Given the description of an element on the screen output the (x, y) to click on. 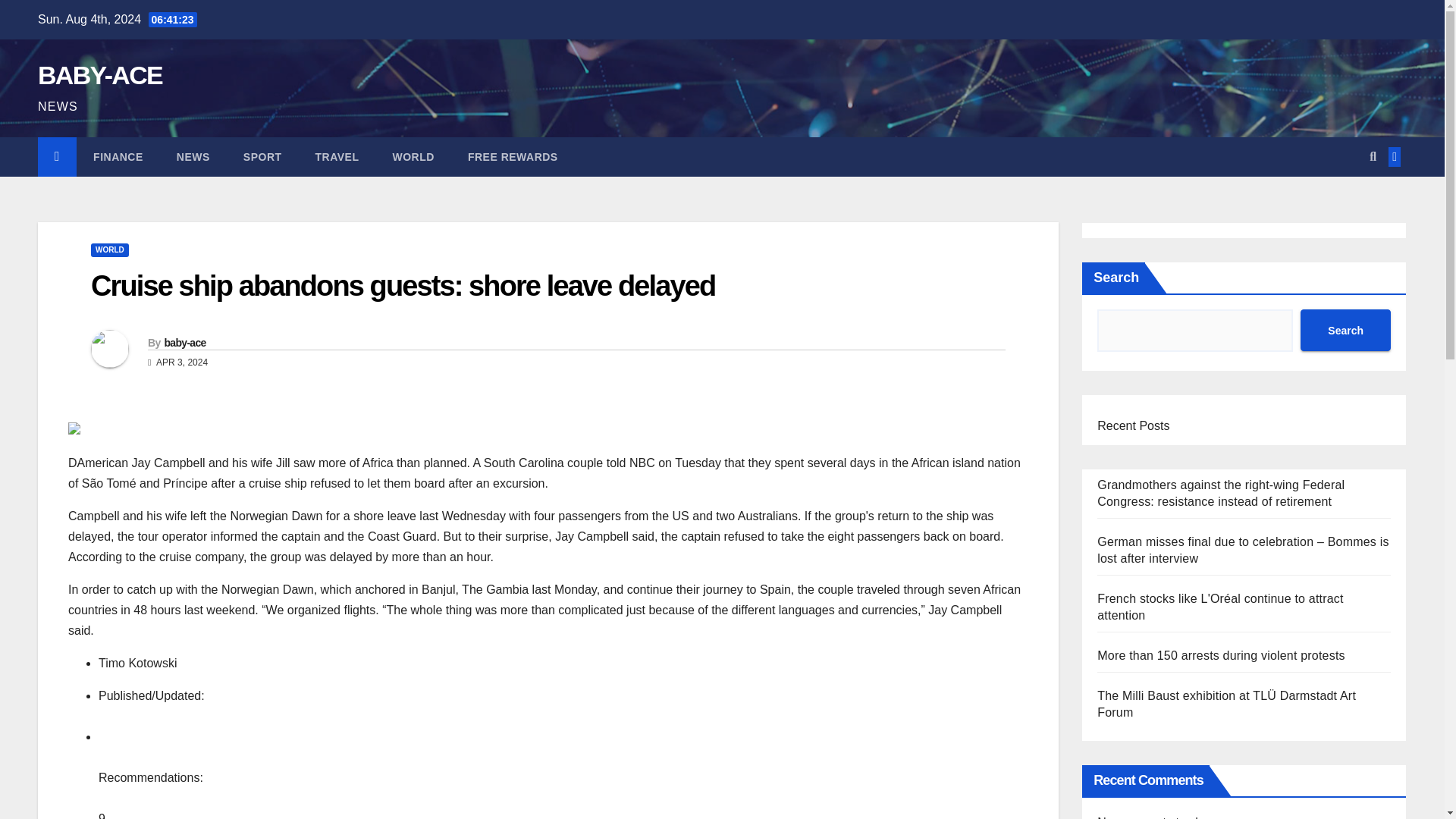
WORLD (413, 156)
FREE REWARDS (513, 156)
NEWS (193, 156)
FINANCE (118, 156)
SPORT (262, 156)
WORLD (109, 250)
baby-ace (184, 342)
BABY-ACE (99, 74)
FREE REWARDS (513, 156)
